Given the description of an element on the screen output the (x, y) to click on. 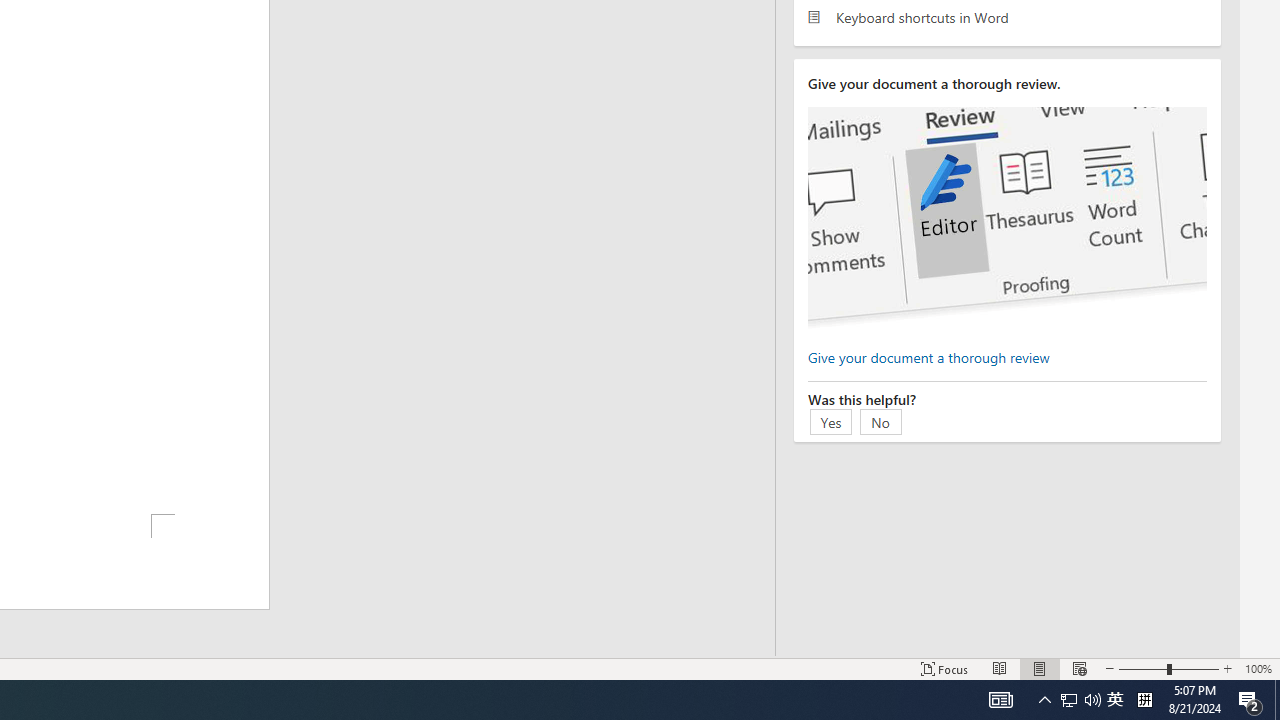
Keyboard shortcuts in Word (1007, 16)
Give your document a thorough review (928, 356)
Zoom 100% (1258, 668)
editor ui screenshot (1007, 218)
No (881, 421)
Yes (831, 421)
